Given the description of an element on the screen output the (x, y) to click on. 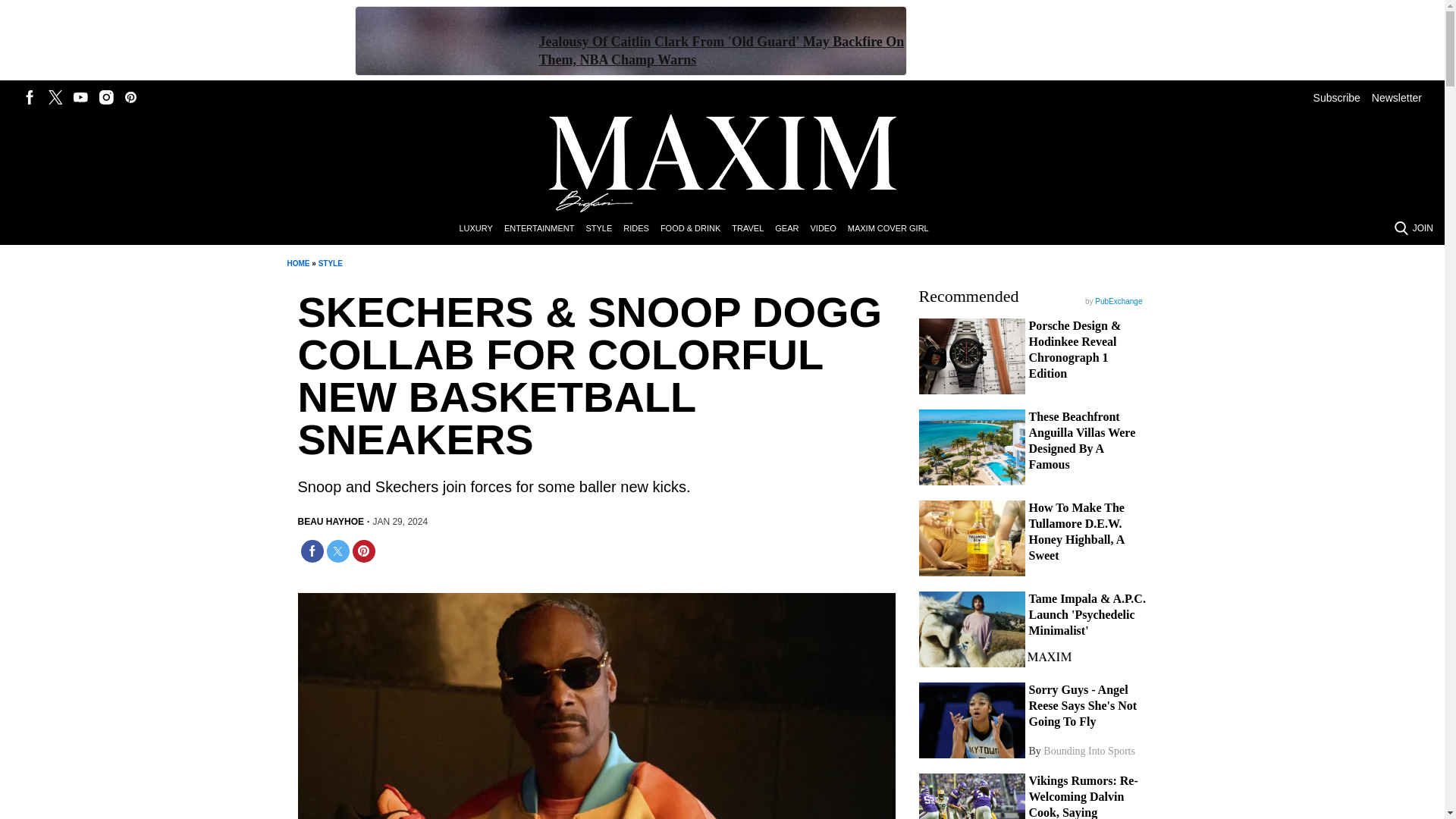
STYLE (330, 263)
Follow us on Instagram (106, 97)
HOME (297, 263)
Newsletter (1396, 97)
JOIN (1422, 228)
Share on Twitter (337, 550)
Follow us on Youtube (80, 97)
Posts by Beau Hayhoe (330, 521)
Follow us on Twitter (55, 97)
STYLE (604, 228)
ENTERTAINMENT (544, 228)
MAXIM COVER GIRL (893, 228)
VIDEO (828, 228)
Subscribe (1336, 97)
LUXURY (480, 228)
